Given the description of an element on the screen output the (x, y) to click on. 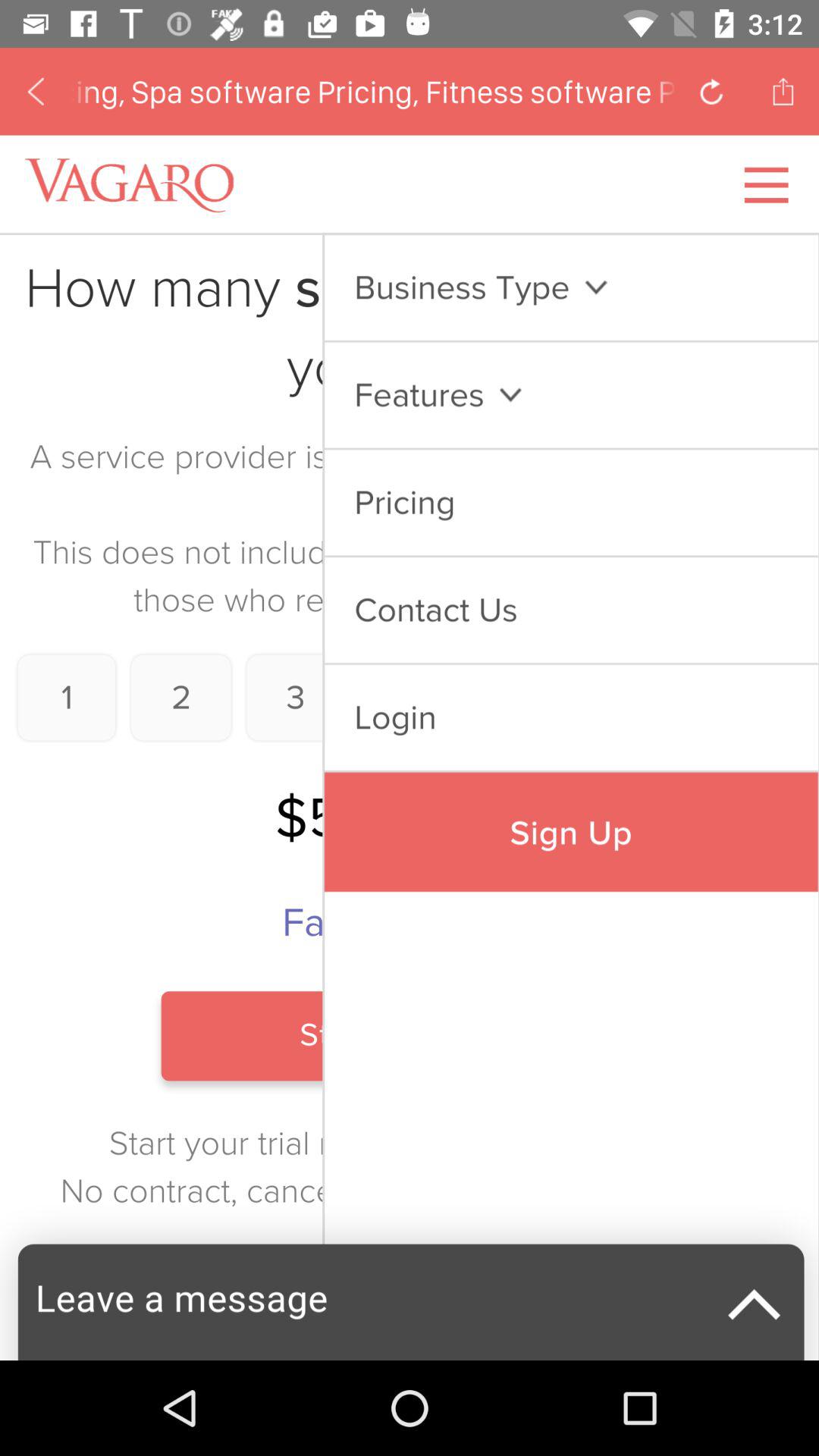
upload (783, 91)
